Given the description of an element on the screen output the (x, y) to click on. 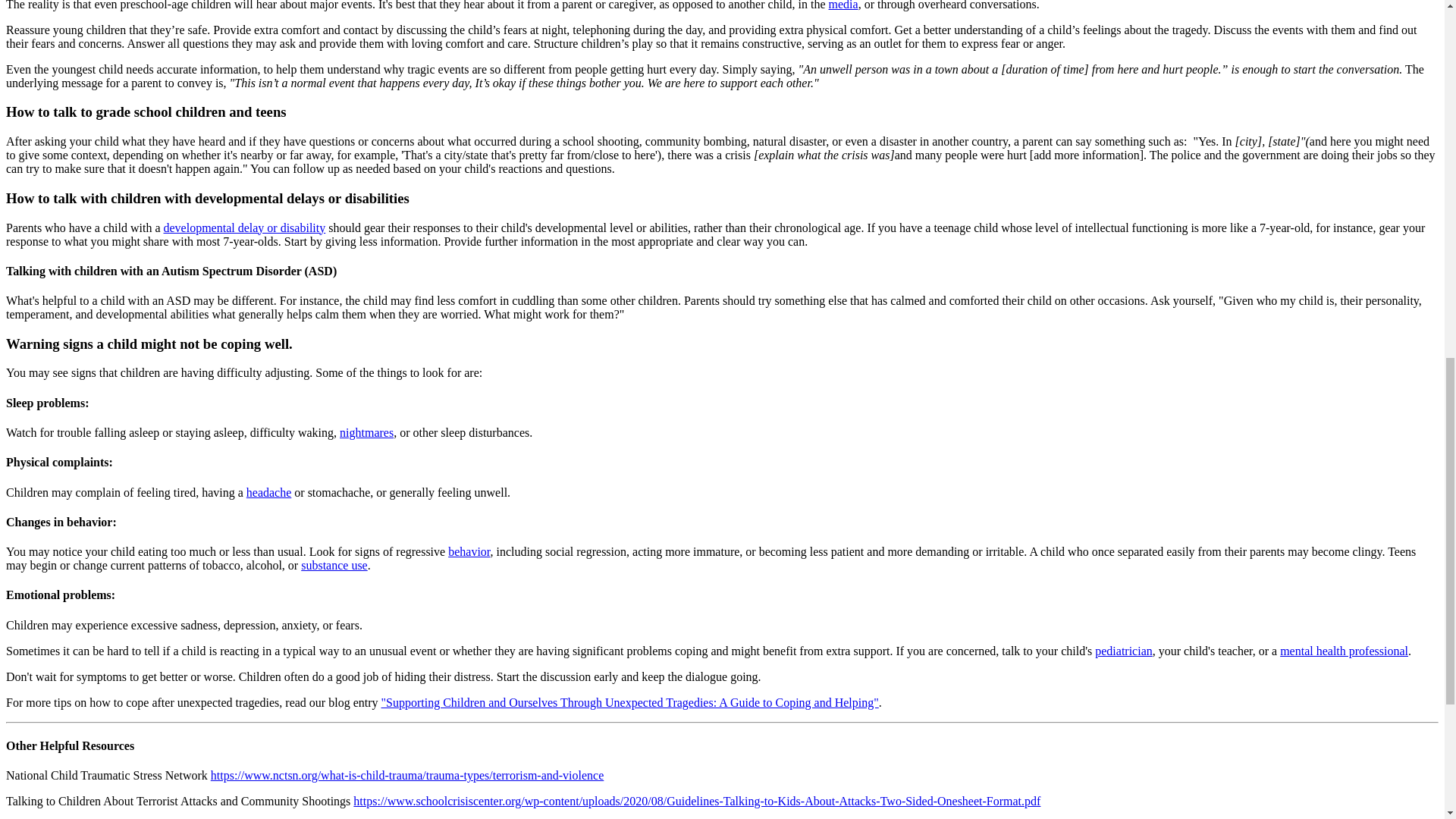
when to call your pediatrician (1123, 650)
National Child Traumatic Stress Network (407, 775)
headache (269, 492)
more about mental health care (1343, 650)
nightmares (366, 431)
more about developmental delay or disability (244, 227)
media and children (843, 5)
more about child behavior (468, 551)
media (843, 5)
children and headaches (269, 492)
children and nightmares (366, 431)
developmental delay or disability (244, 227)
behavior (468, 551)
